Given the description of an element on the screen output the (x, y) to click on. 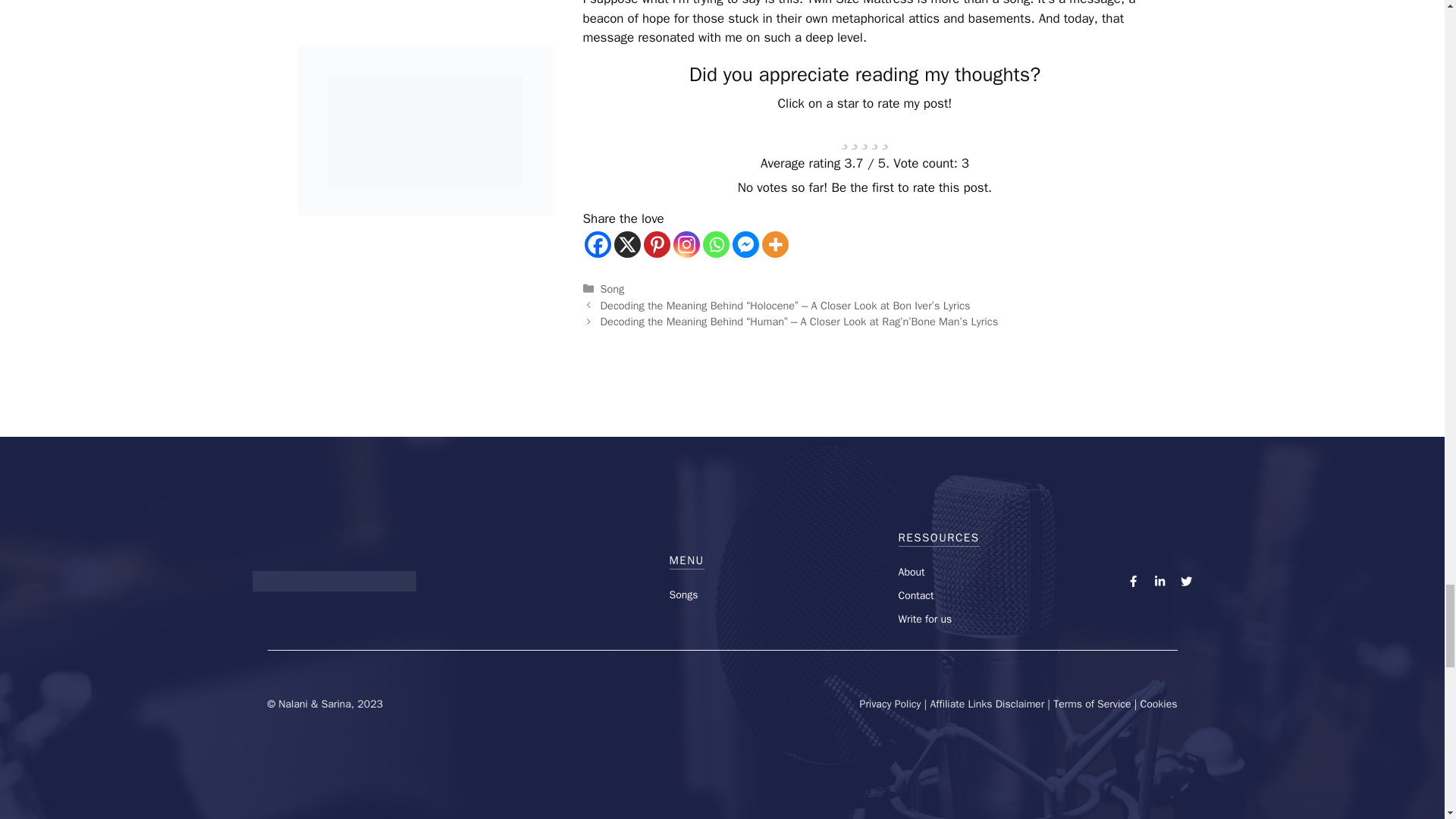
Song (611, 288)
Instagram (686, 243)
Whatsapp (715, 243)
Pinterest (656, 243)
Facebook (596, 243)
More (774, 243)
X (627, 243)
